Given the description of an element on the screen output the (x, y) to click on. 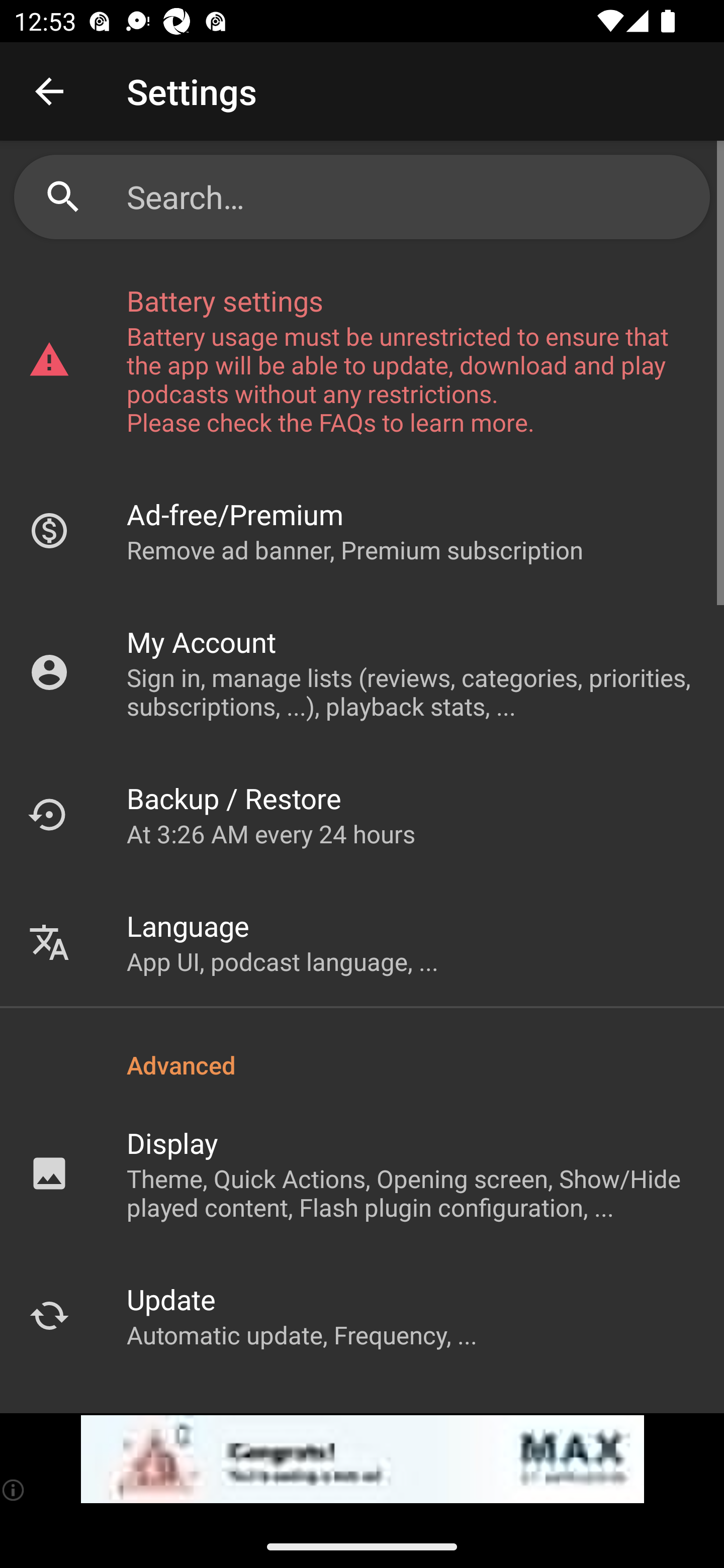
Navigate up (49, 91)
Search… (361, 197)
Search… (410, 196)
Backup / Restore At 3:26 AM every 24 hours (362, 814)
Language App UI, podcast language, ... (362, 942)
Update Automatic update, Frequency, ... (362, 1315)
app-monetization (362, 1459)
(i) (14, 1489)
